Given the description of an element on the screen output the (x, y) to click on. 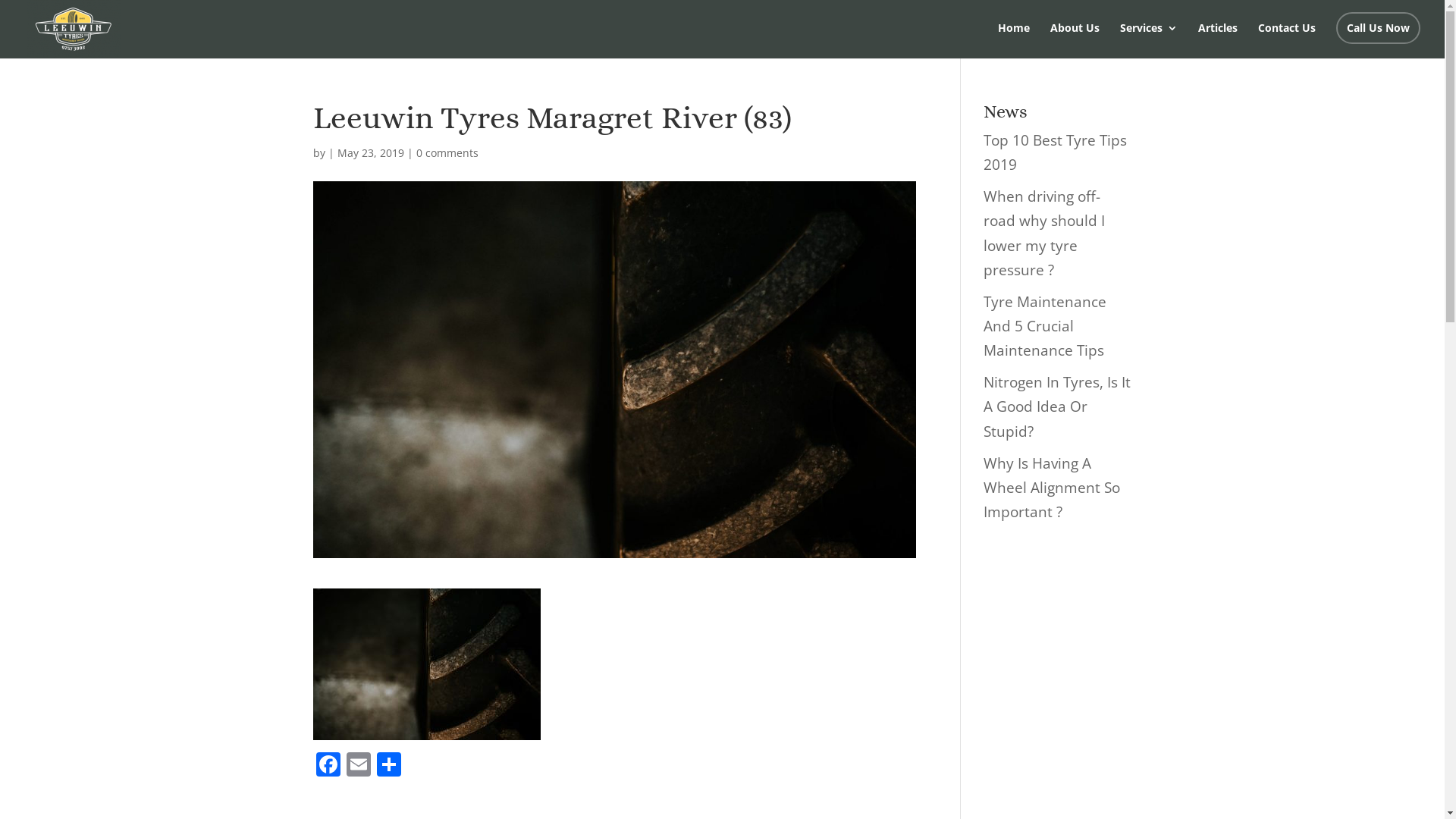
Facebook Element type: text (327, 765)
Home Element type: text (1013, 40)
Call Us Now Element type: text (1378, 27)
Nitrogen In Tyres, Is It A Good Idea Or Stupid? Element type: text (1056, 406)
Email Element type: text (357, 765)
Contact Us Element type: text (1286, 40)
Articles Element type: text (1217, 40)
0 comments Element type: text (446, 152)
Tyre Maintenance And 5 Crucial Maintenance Tips Element type: text (1044, 325)
About Us Element type: text (1074, 40)
Why Is Having A Wheel Alignment So Important ? Element type: text (1051, 487)
Services Element type: text (1148, 40)
Share Element type: text (388, 765)
When driving off-road why should I lower my tyre pressure ? Element type: text (1043, 232)
Top 10 Best Tyre Tips 2019 Element type: text (1054, 152)
